Given the description of an element on the screen output the (x, y) to click on. 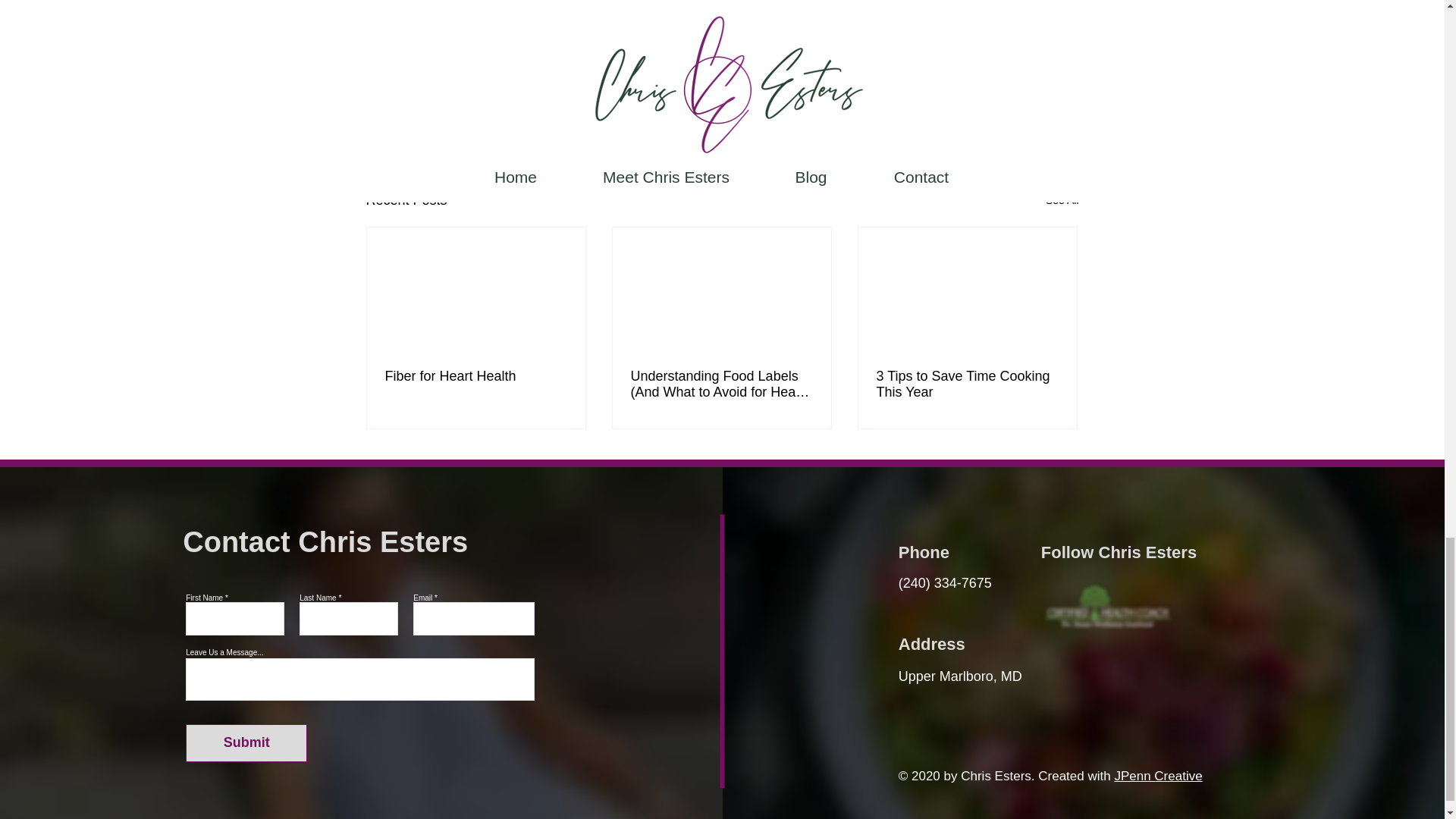
JPenn Creative (1157, 775)
See All (1061, 200)
Healthy Eating (968, 102)
3 Tips to Save Time Cooking This Year (967, 384)
Fiber for Heart Health (476, 376)
Submit (246, 742)
